Given the description of an element on the screen output the (x, y) to click on. 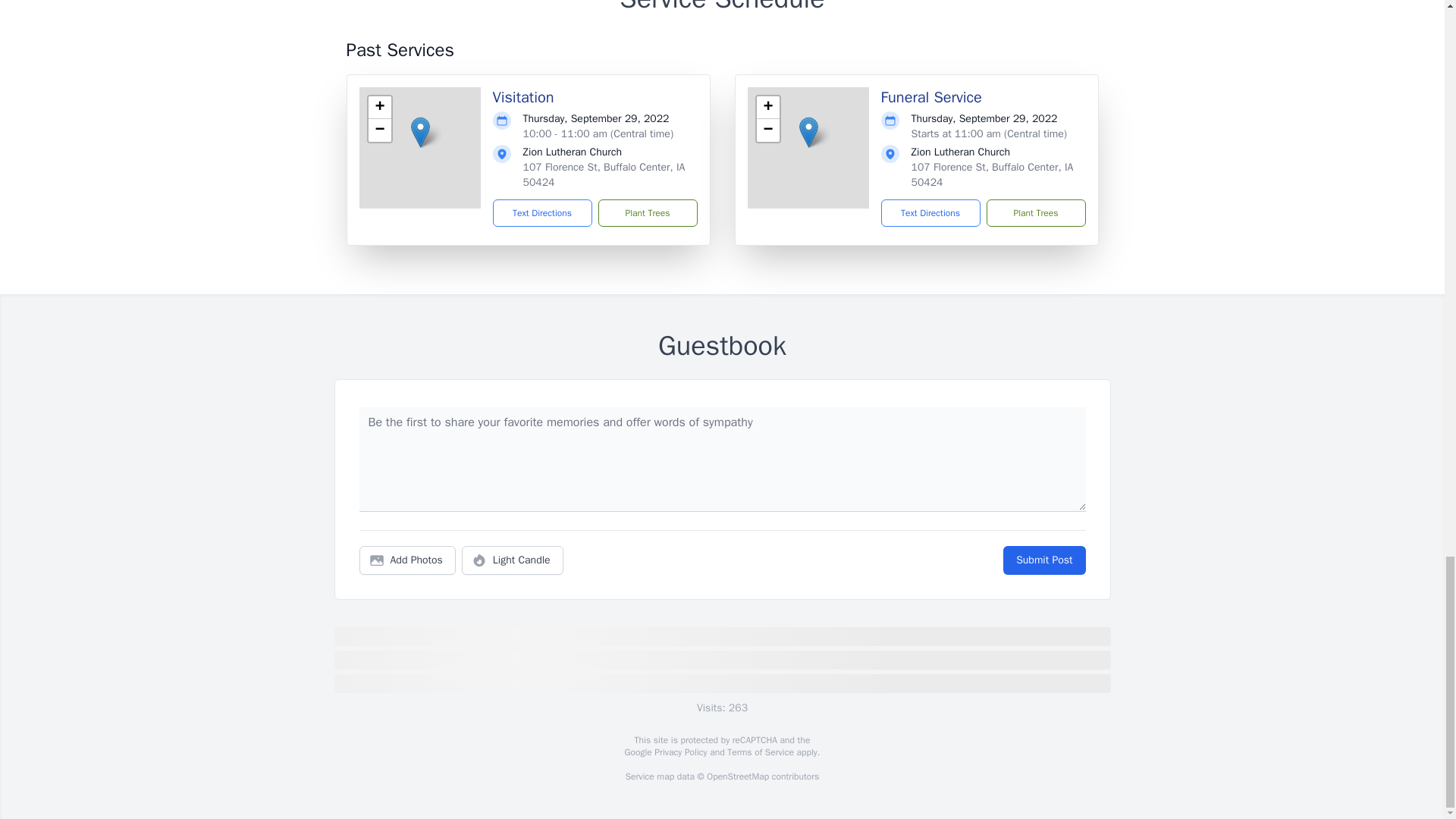
Zoom in (767, 107)
107 Florence St, Buffalo Center, IA 50424 (992, 174)
Plant Trees (1034, 212)
107 Florence St, Buffalo Center, IA 50424 (603, 174)
Zoom out (379, 129)
Terms of Service (759, 752)
Light Candle (512, 560)
Zoom in (379, 107)
Text Directions (929, 212)
Submit Post (1043, 560)
Plant Trees (646, 212)
Privacy Policy (679, 752)
Text Directions (542, 212)
OpenStreetMap (737, 776)
Add Photos (407, 560)
